Given the description of an element on the screen output the (x, y) to click on. 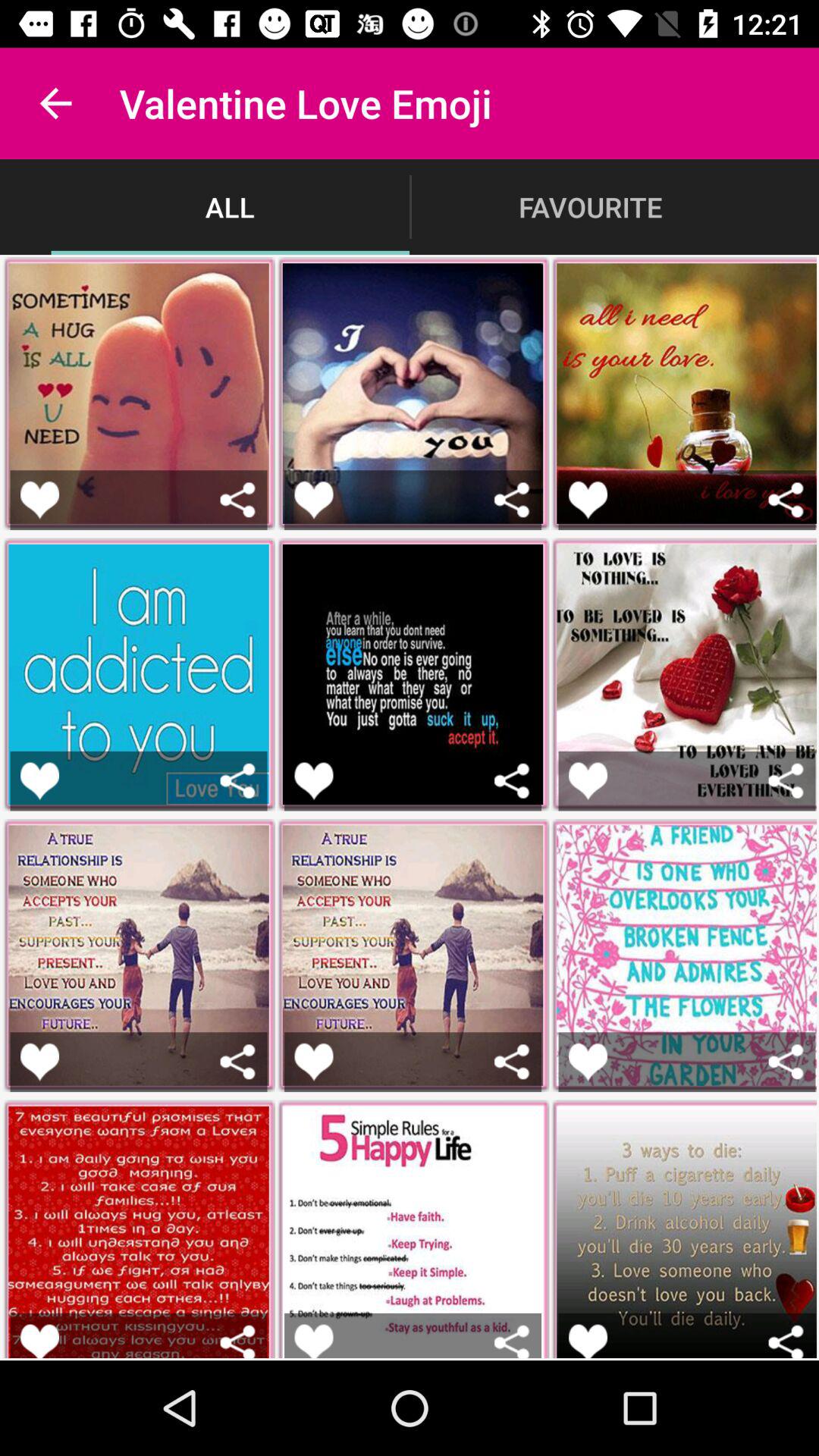
share emoji (511, 499)
